Given the description of an element on the screen output the (x, y) to click on. 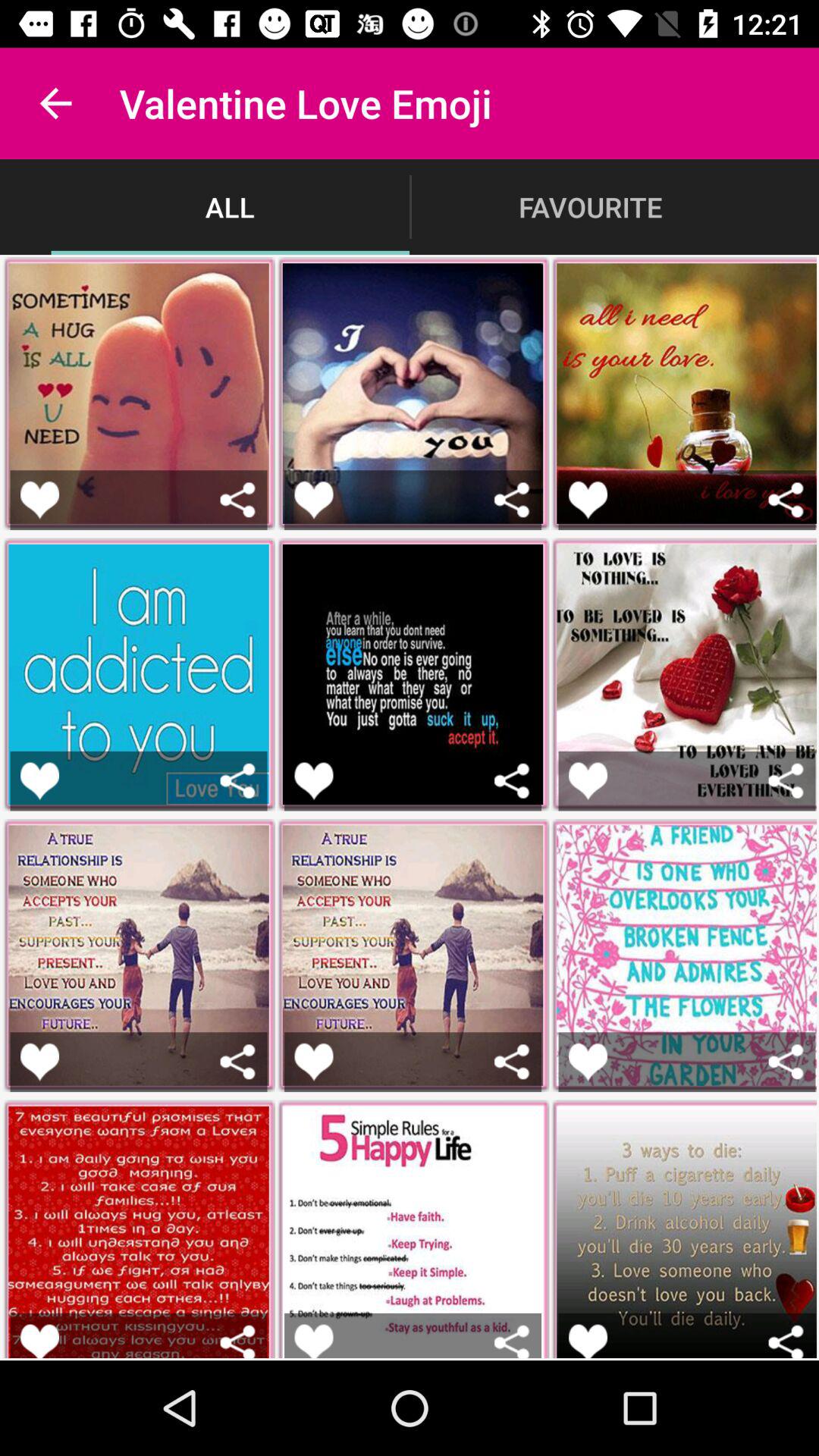
share emoji (511, 499)
